Given the description of an element on the screen output the (x, y) to click on. 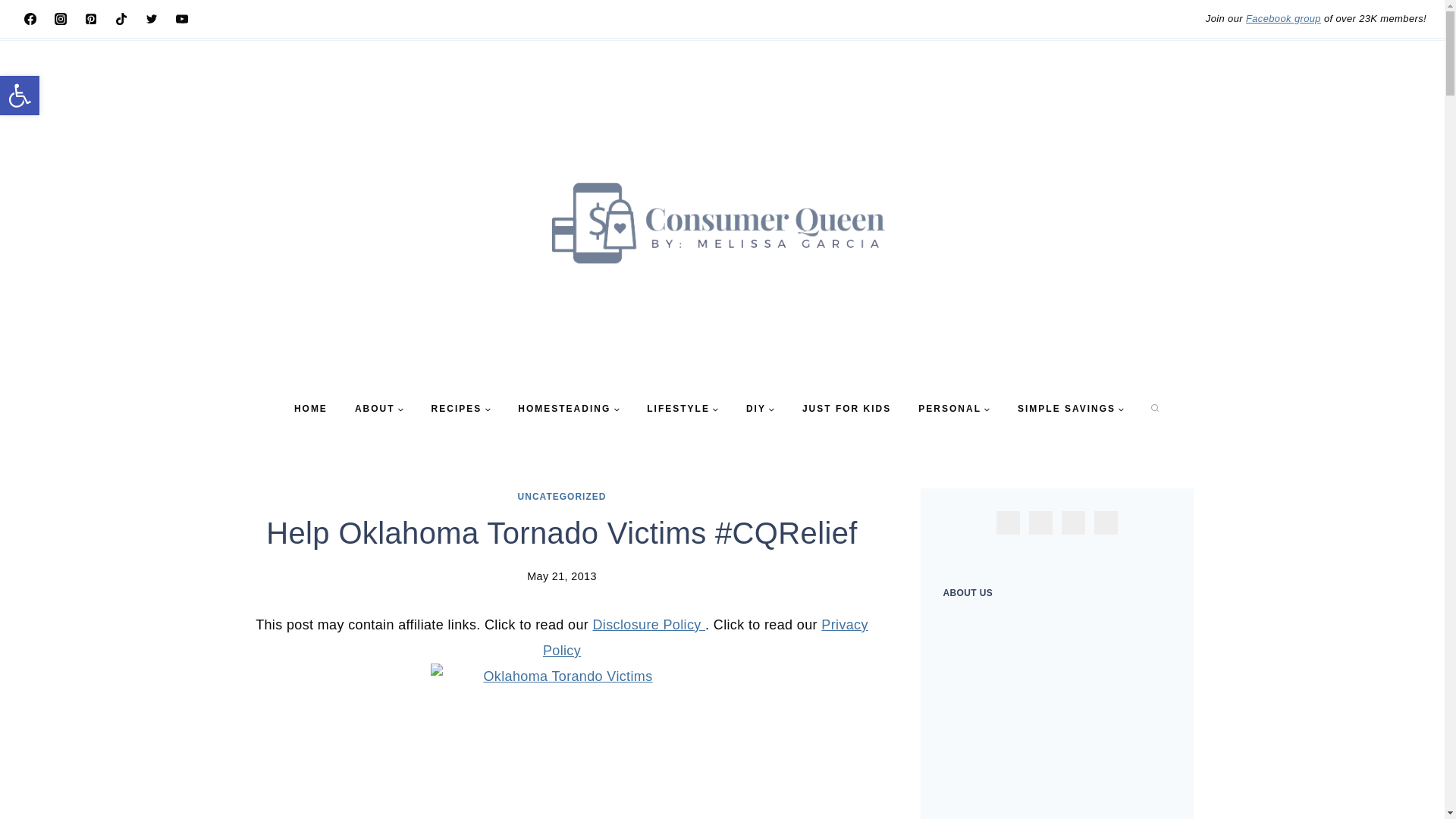
Facebook group (1283, 18)
ABOUT (378, 408)
HOMESTEADING (568, 408)
HOME (310, 408)
Accessibility Tools (19, 95)
RECIPES (461, 408)
